Given the description of an element on the screen output the (x, y) to click on. 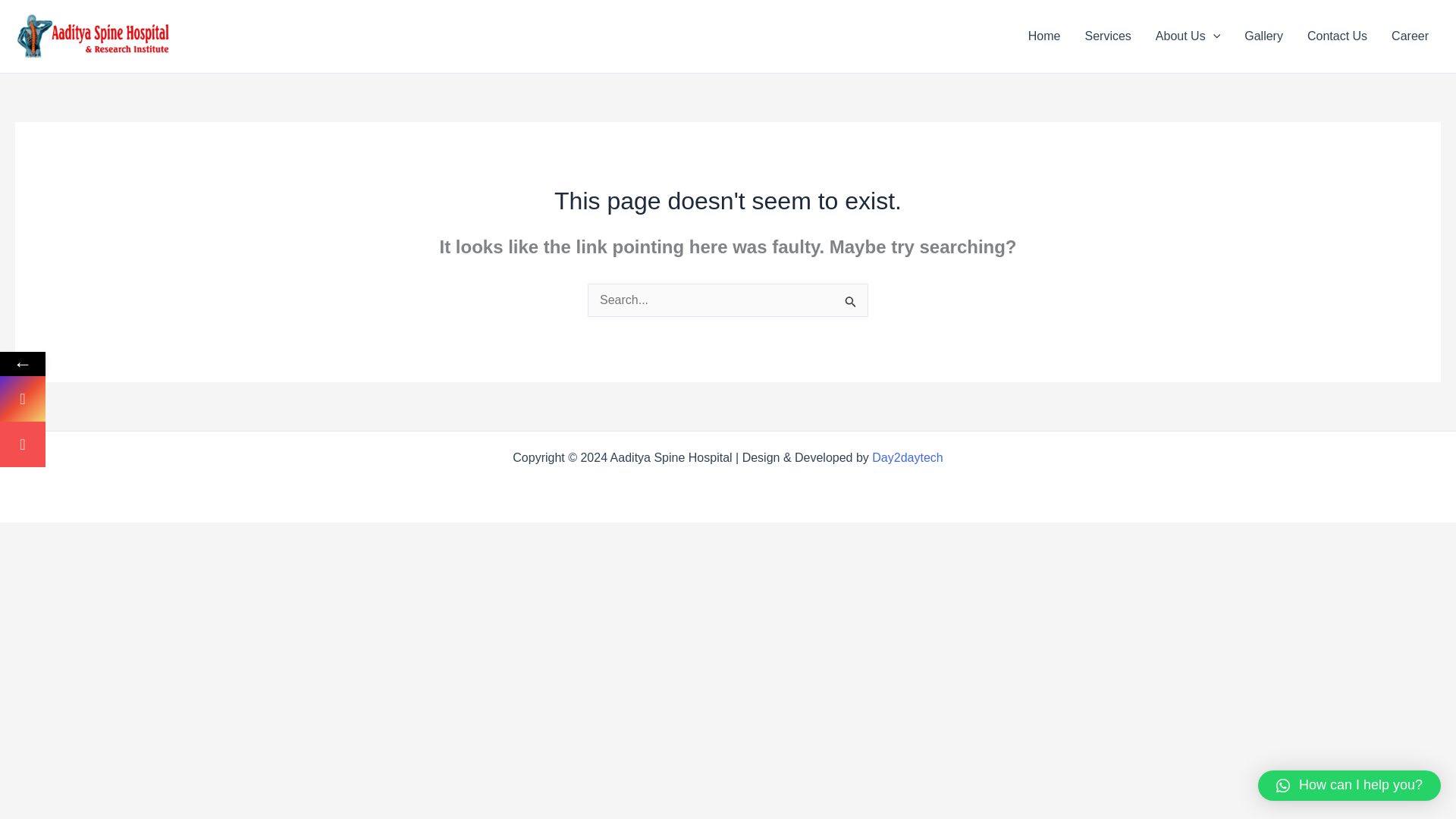
Instagram (22, 398)
YouTube (22, 443)
Services (1106, 35)
Contact Us (1336, 35)
Instagram (123, 398)
How can I help you? (1349, 785)
YouTube (123, 443)
YouTube (123, 443)
Instagram (123, 398)
Day2daytech (907, 457)
